Given the description of an element on the screen output the (x, y) to click on. 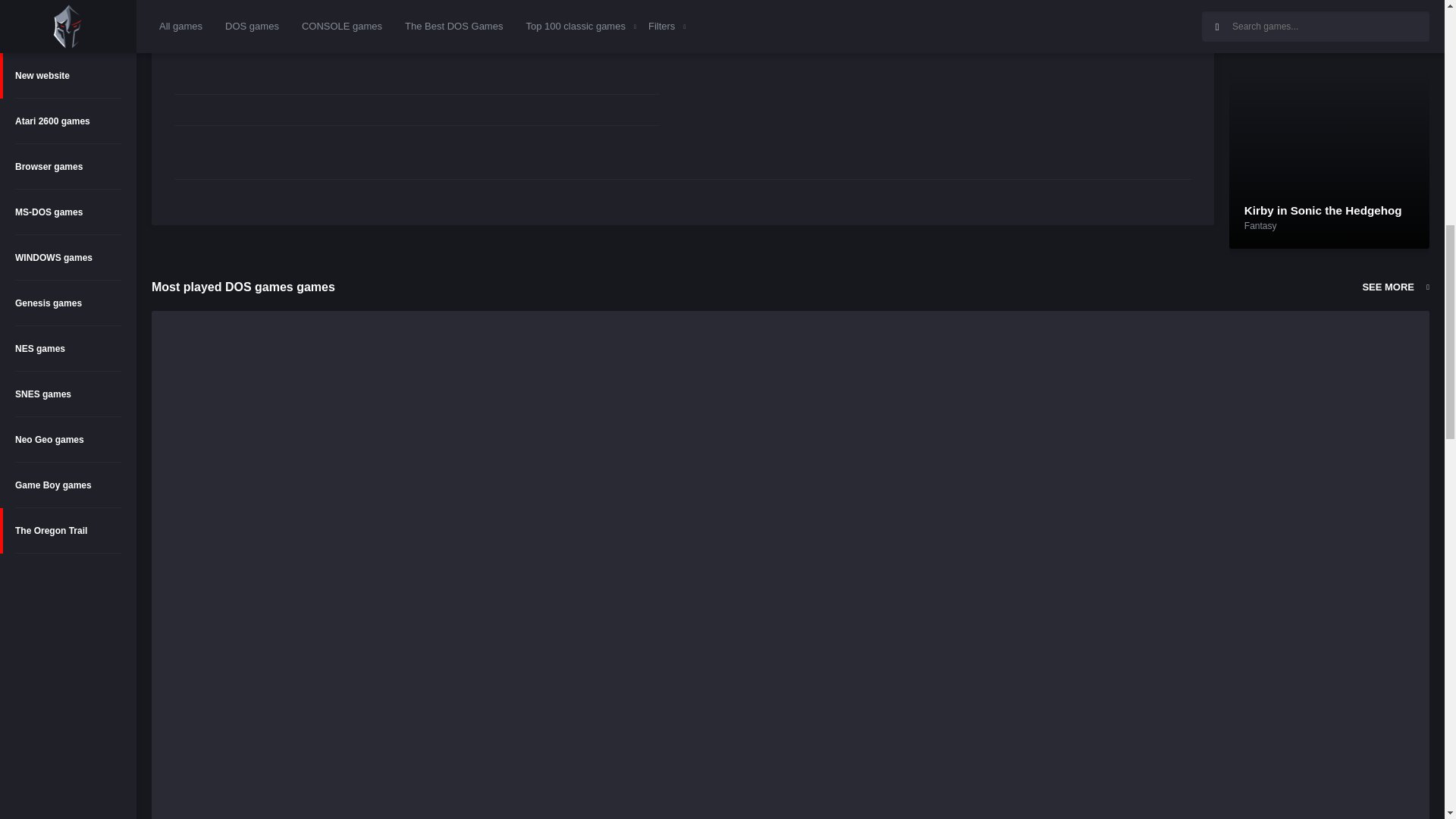
All DOS games games (1395, 287)
Play Kirby in Sonic the Hedgehog Online (1323, 210)
Play Jump and Run games online (1392, 8)
